Given the description of an element on the screen output the (x, y) to click on. 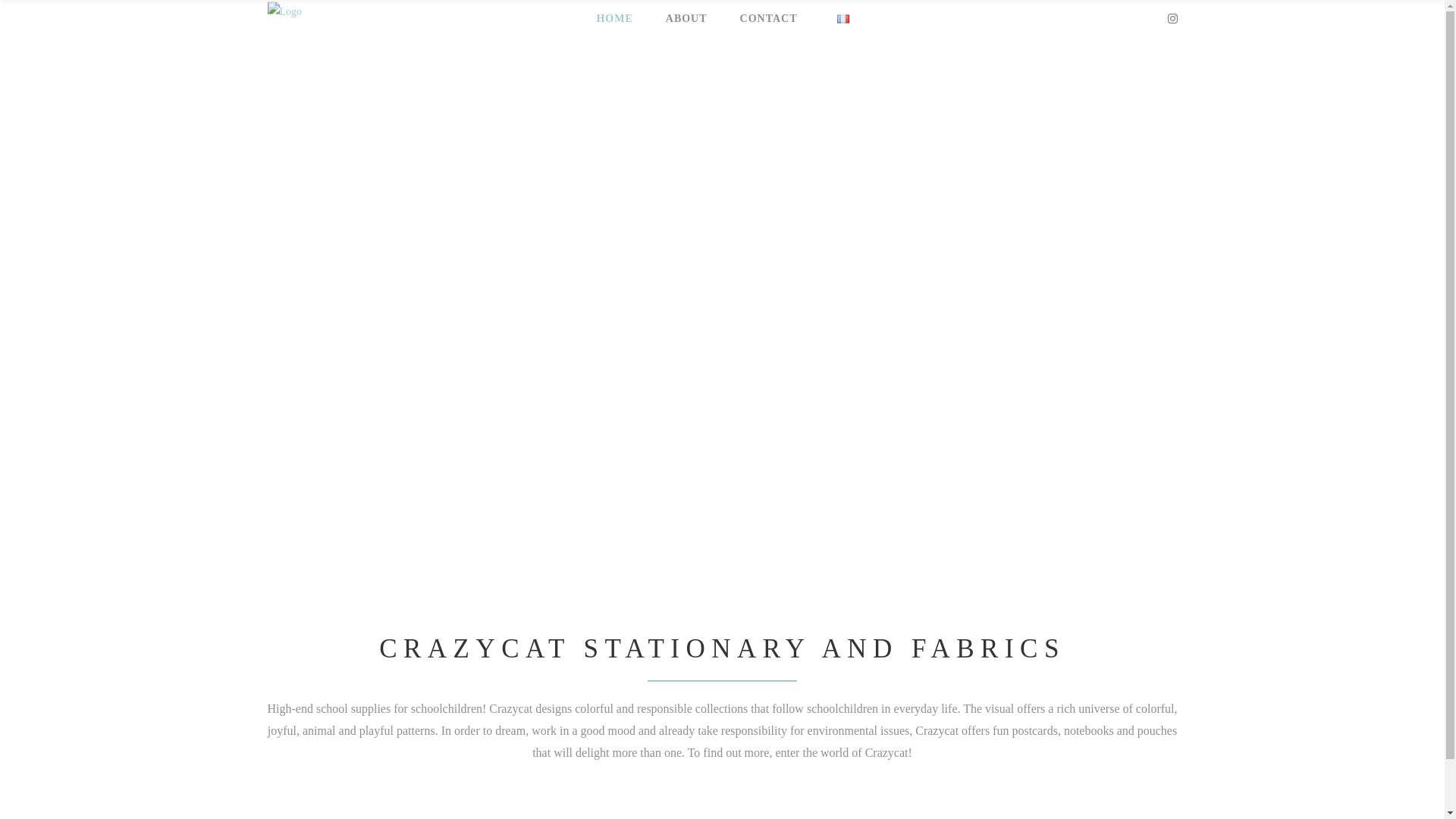
CONTACT Element type: text (766, 18)
HOME Element type: text (611, 18)
ABOUT Element type: text (684, 18)
